Given the description of an element on the screen output the (x, y) to click on. 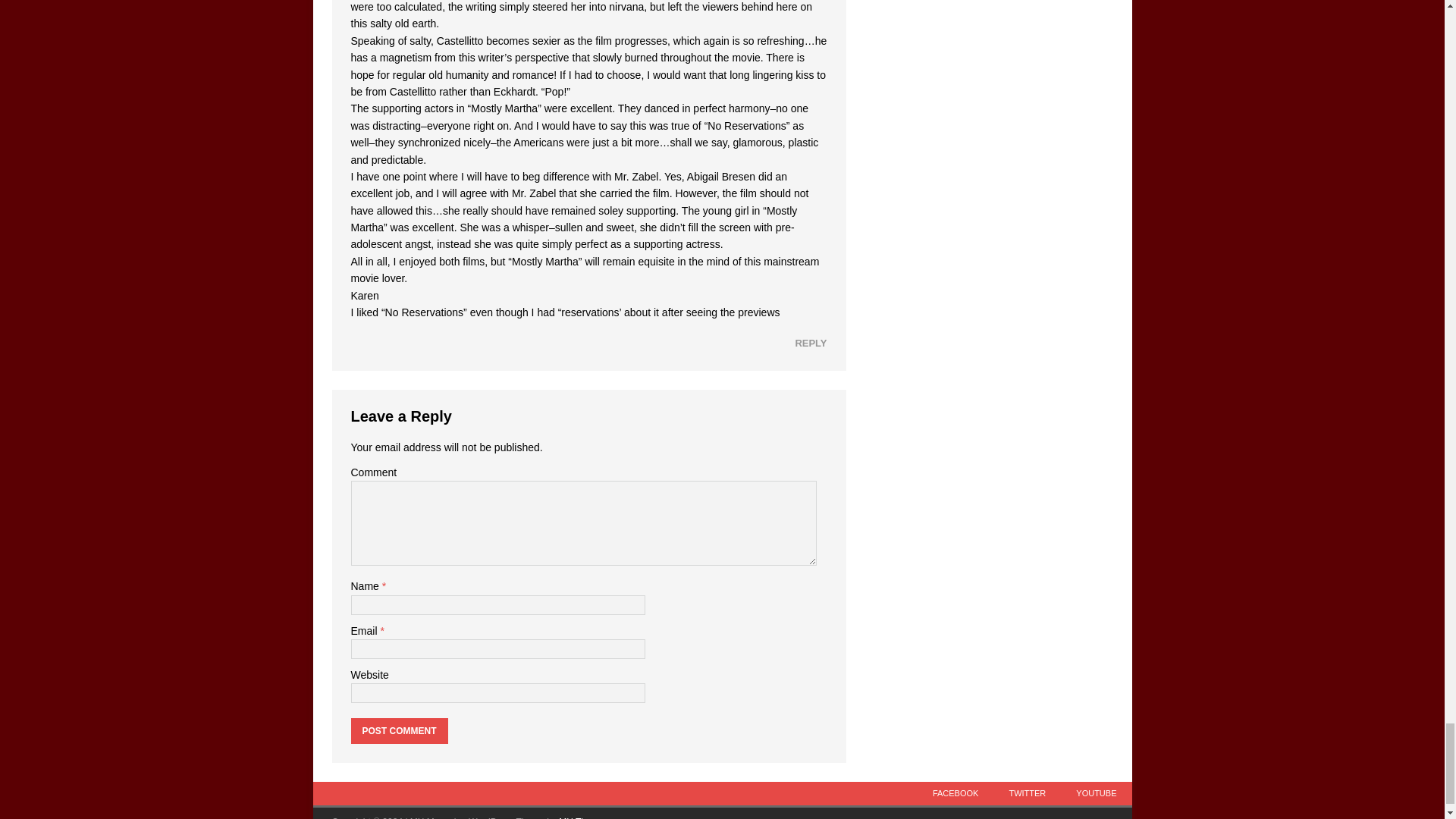
Post Comment (398, 730)
